Given the description of an element on the screen output the (x, y) to click on. 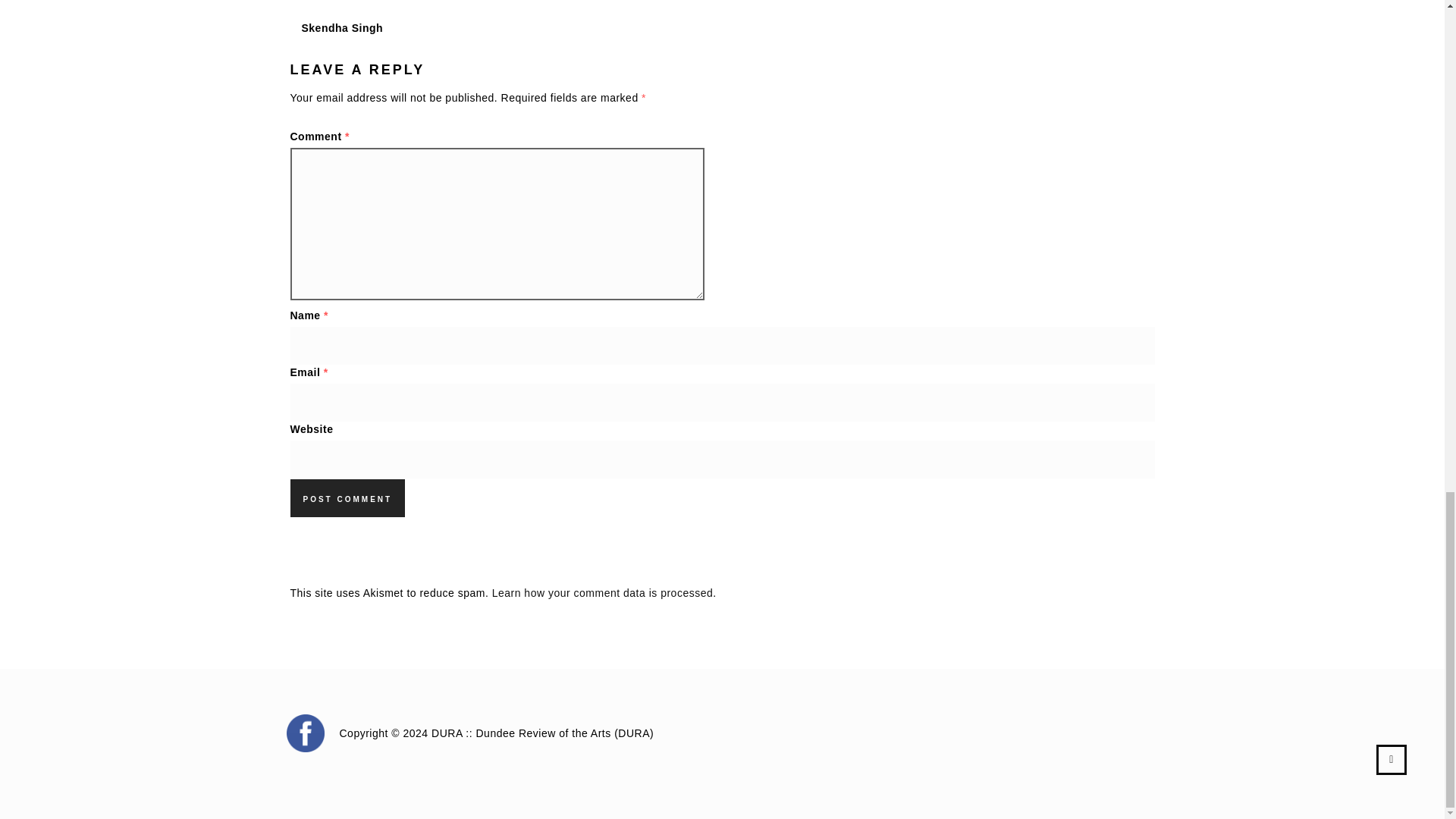
Learn how your comment data is processed (602, 592)
Post Comment (346, 497)
Post Comment (346, 497)
